Given the description of an element on the screen output the (x, y) to click on. 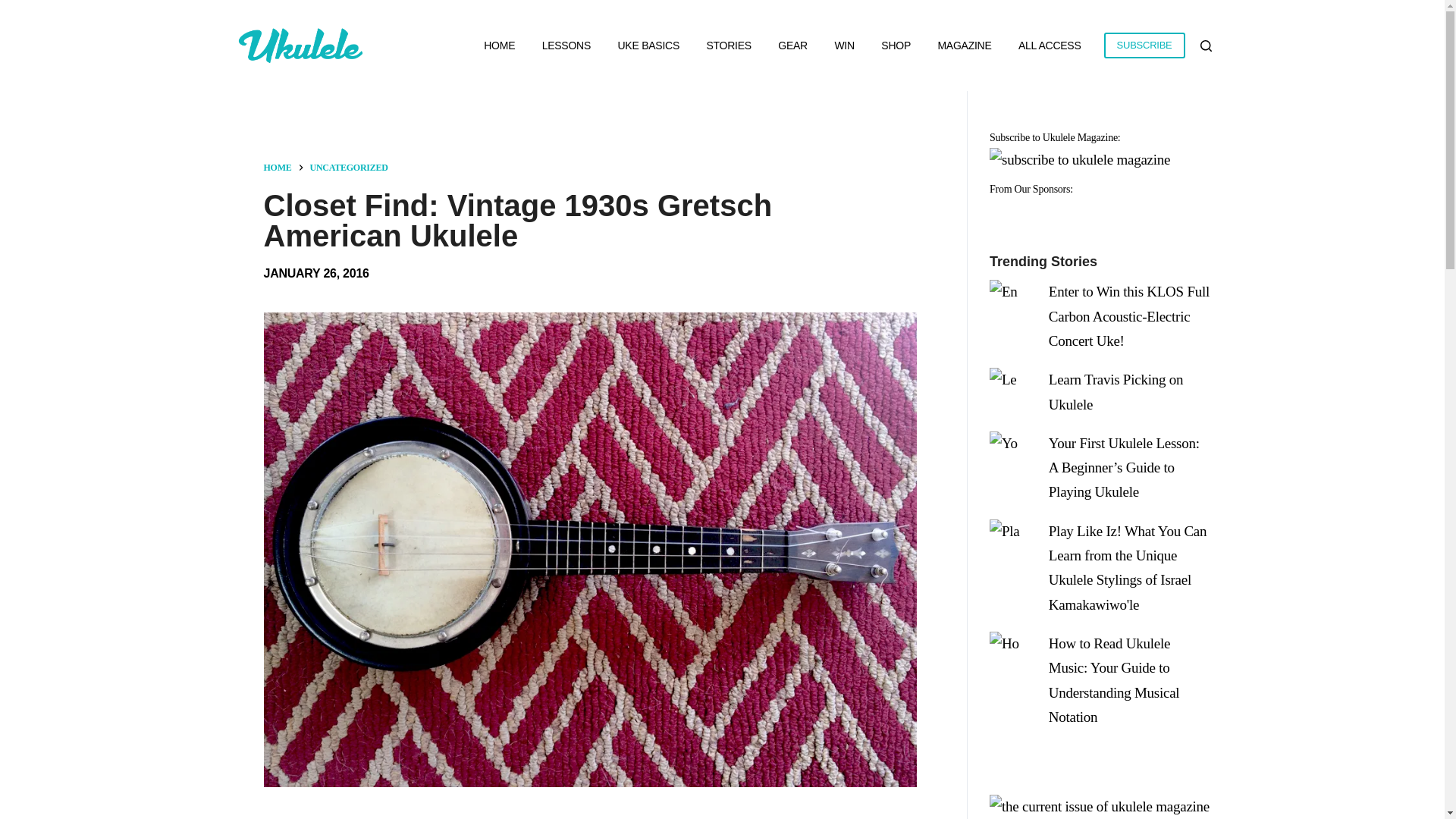
Closet Find: Vintage 1930s Gretsch American Ukulele (590, 220)
Learn Travis Picking on Ukulele (1115, 391)
Learn Travis Picking on Ukulele (1115, 391)
SUBSCRIBE (1144, 45)
Skip to content (15, 7)
HOME (277, 167)
